Given the description of an element on the screen output the (x, y) to click on. 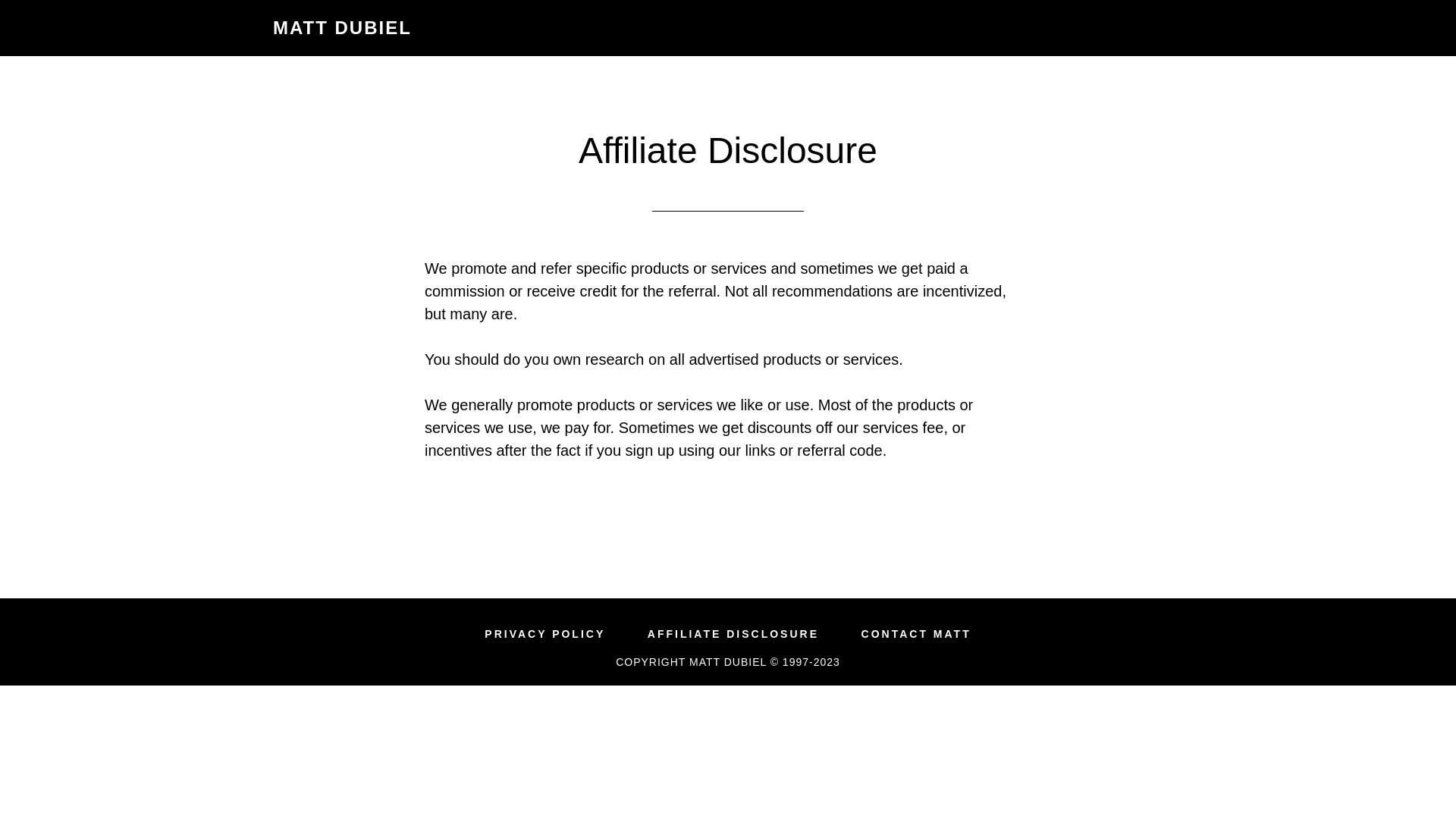
MATT DUBIEL (342, 27)
PRIVACY POLICY (544, 634)
CONTACT MATT (916, 634)
AFFILIATE DISCLOSURE (733, 634)
